Given the description of an element on the screen output the (x, y) to click on. 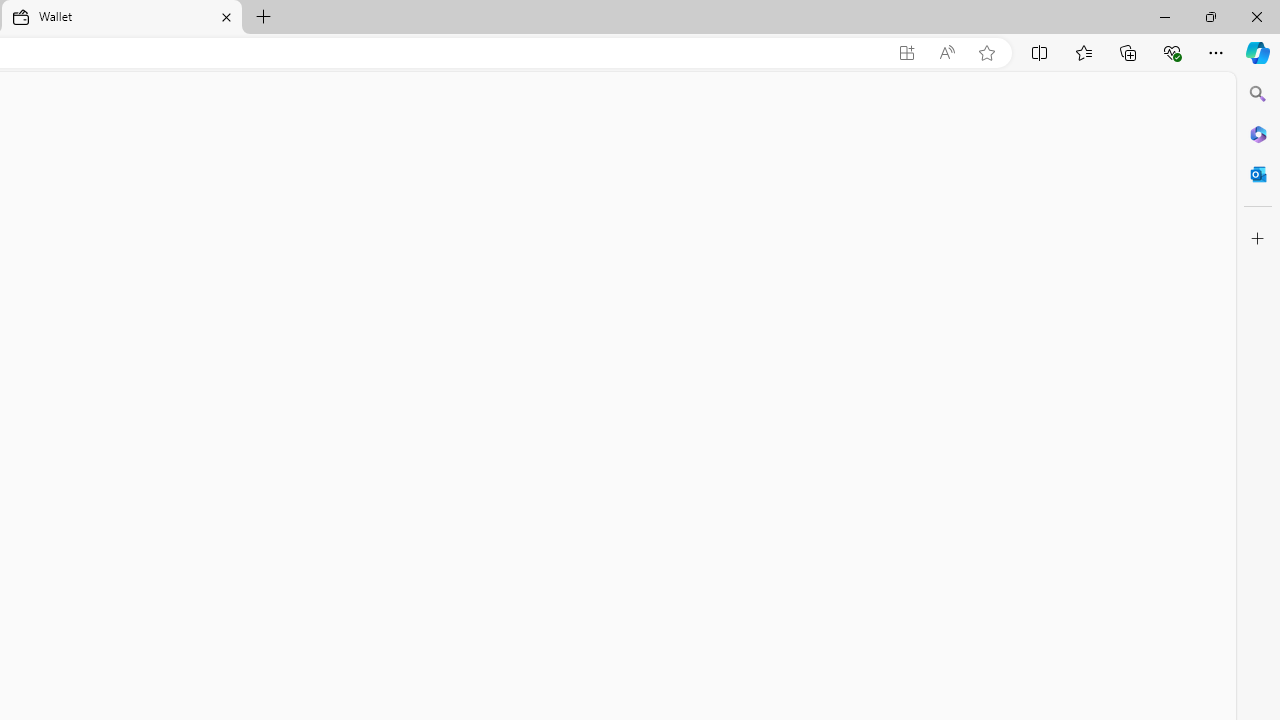
App available. Install Microsoft Wallet (906, 53)
